Given the description of an element on the screen output the (x, y) to click on. 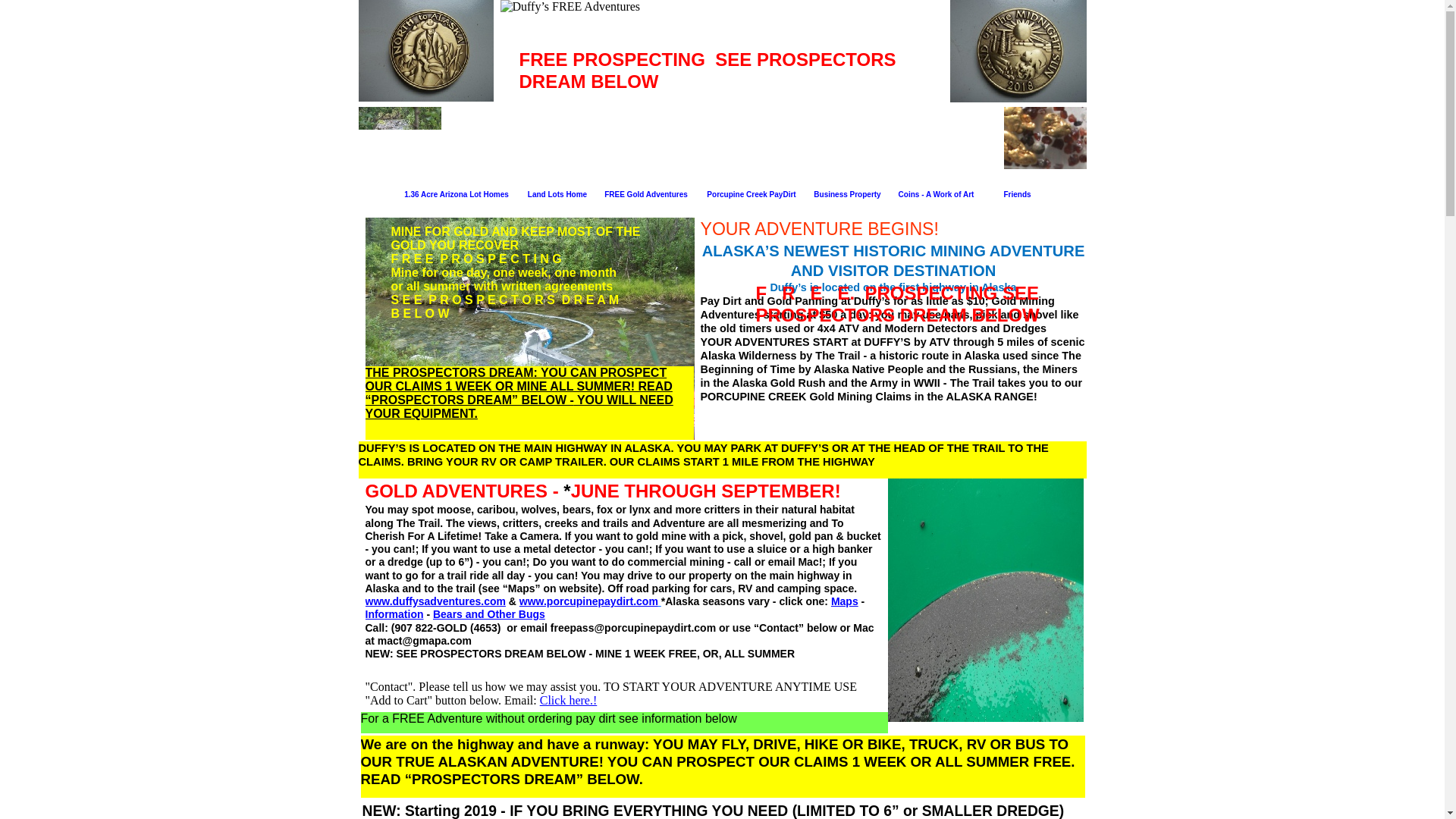
1.36 Acre Arizona Lot Homes (456, 193)
Coins - A Work of Art (936, 193)
Porcupine Creek PayDirt (751, 193)
FREE Gold Adventures (646, 193)
Click here.! (568, 699)
Porcupine Creek PayDirt  (751, 193)
www.porcupinepaydirt.com (588, 601)
Friends (1017, 193)
www.duffysadventures.com (435, 601)
Maps (845, 601)
Information (394, 613)
Bears and Other Bugs (488, 613)
